Given the description of an element on the screen output the (x, y) to click on. 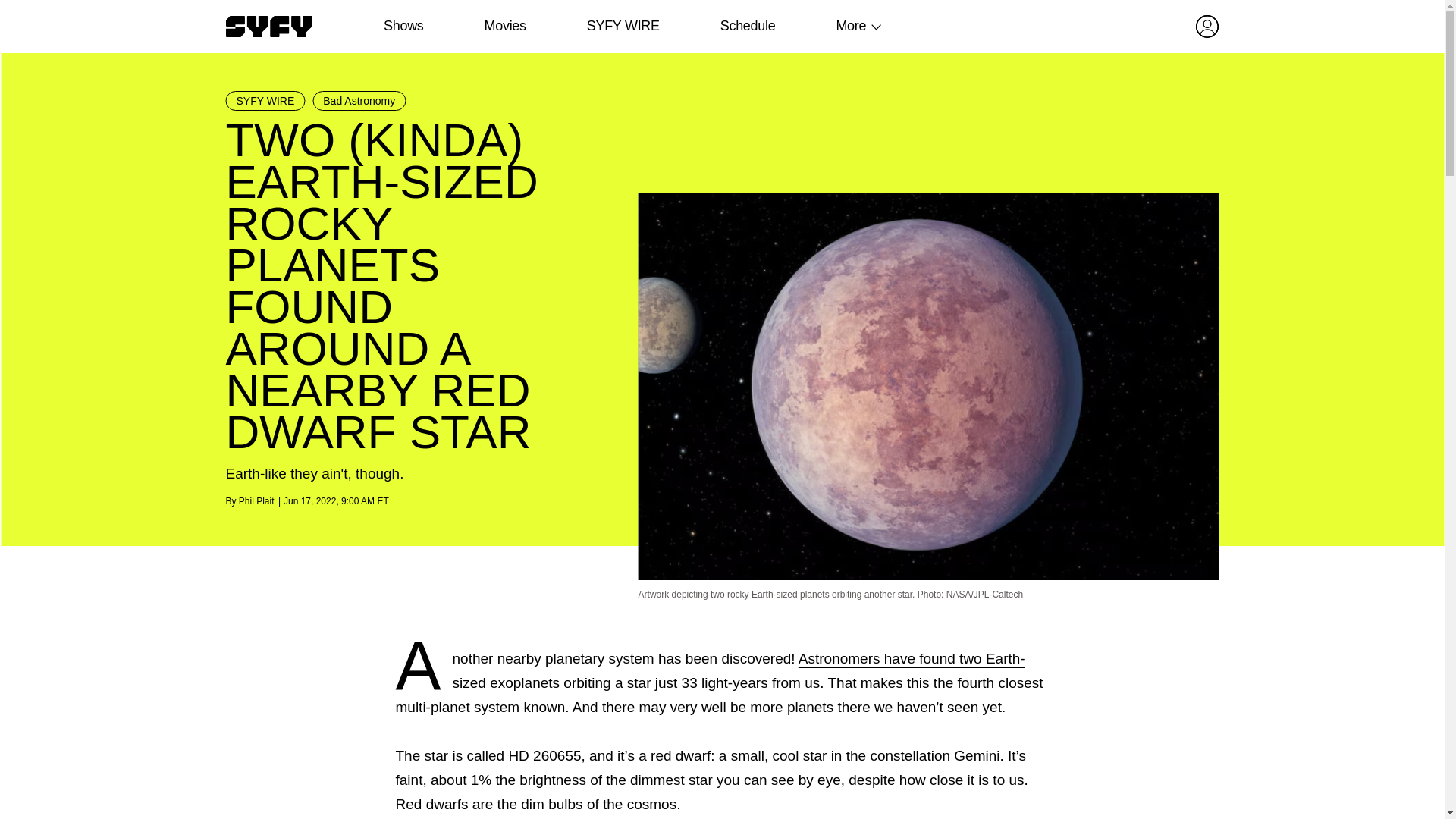
Bad Astronomy (359, 100)
SYFY WIRE (622, 26)
Movies (504, 26)
Shows (403, 26)
Schedule (746, 26)
More (850, 26)
Phil Plait (256, 501)
SYFY WIRE (265, 100)
